Given the description of an element on the screen output the (x, y) to click on. 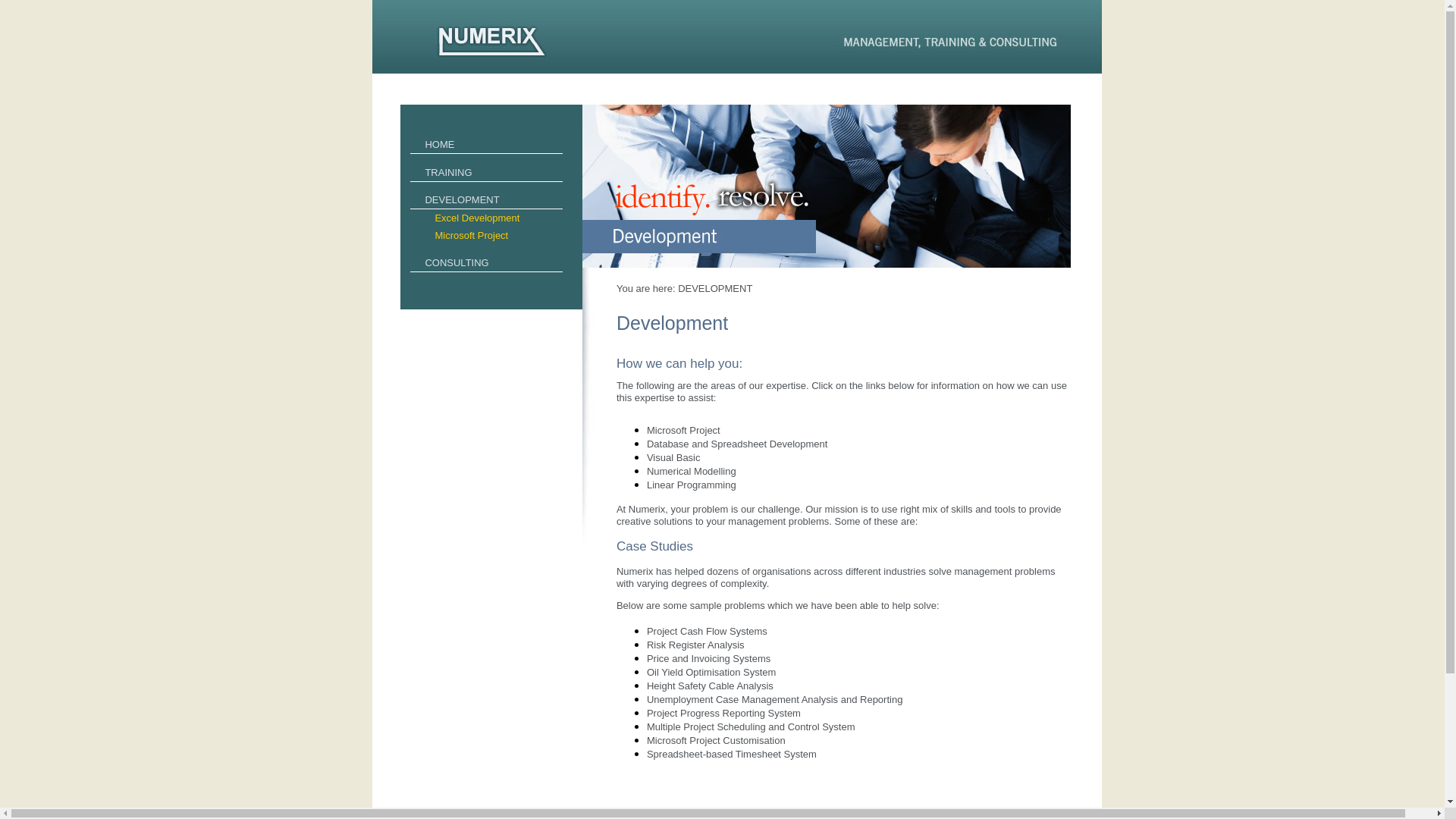
CONSULTING Element type: text (486, 262)
TRAINING Element type: text (486, 172)
Excel Development Element type: text (491, 217)
HOME Element type: text (486, 144)
Microsoft Project Element type: text (491, 235)
DEVELOPMENT Element type: text (486, 200)
